Given the description of an element on the screen output the (x, y) to click on. 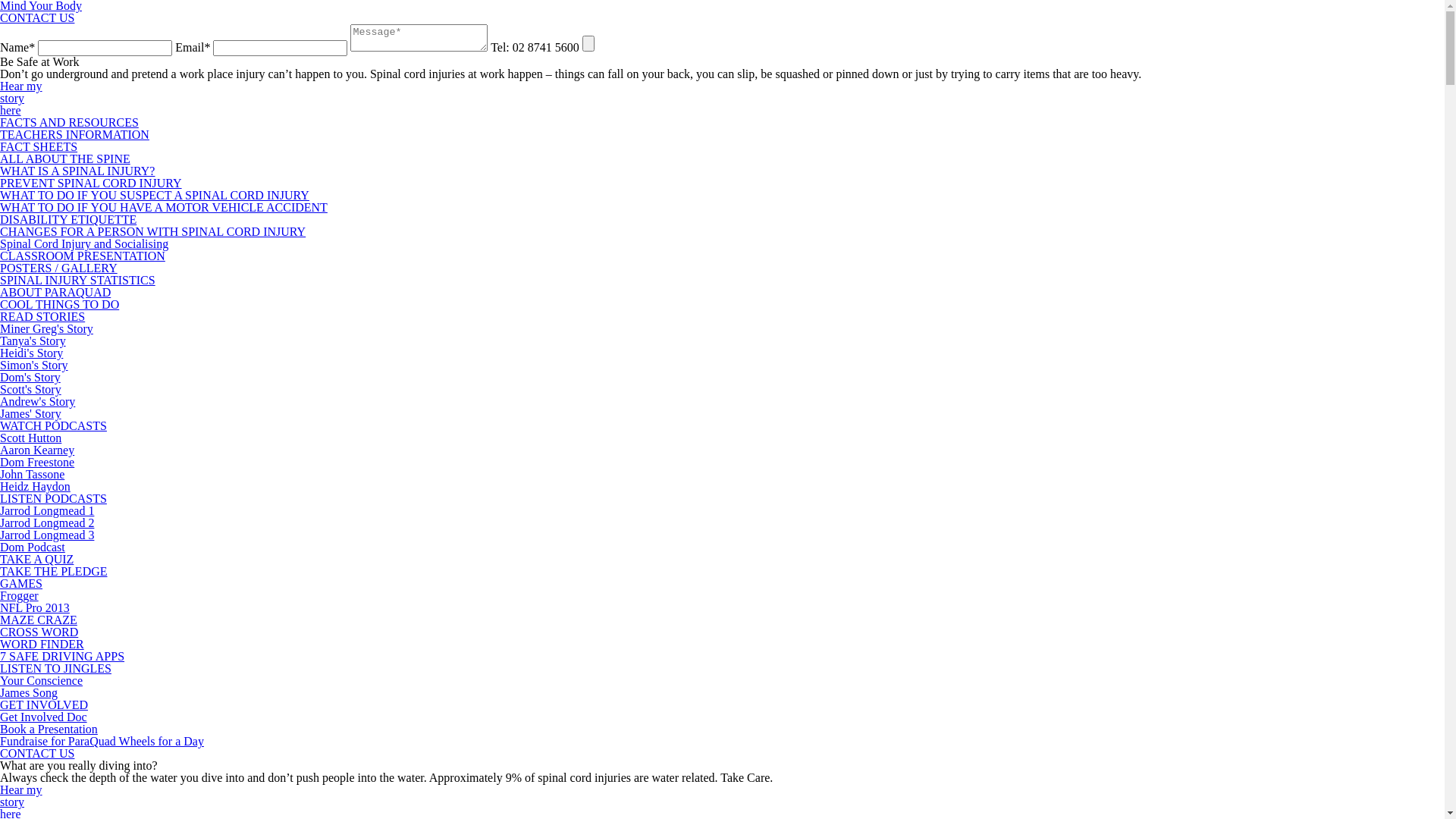
Spinal Cord Injury and Socialising Element type: text (84, 243)
CONTACT US Element type: text (37, 17)
Andrew's Story Element type: text (37, 401)
Jarrod Longmead 1 Element type: text (47, 510)
NFL Pro 2013 Element type: text (34, 607)
Get Involved Doc Element type: text (43, 716)
James Song Element type: text (28, 692)
CROSS WORD Element type: text (39, 631)
TAKE A QUIZ Element type: text (36, 558)
TEACHERS INFORMATION Element type: text (74, 134)
Hear my
story
here Element type: text (21, 97)
Fundraise for ParaQuad Wheels for a Day Element type: text (101, 740)
LISTEN PODCASTS Element type: text (53, 498)
SPINAL INJURY STATISTICS Element type: text (77, 279)
PREVENT SPINAL CORD INJURY Element type: text (91, 182)
James' Story Element type: text (30, 413)
GET INVOLVED Element type: text (43, 704)
ABOUT PARAQUAD Element type: text (55, 291)
READ STORIES Element type: text (42, 316)
WORD FINDER Element type: text (42, 643)
Heidz Haydon Element type: text (35, 486)
LISTEN TO JINGLES Element type: text (55, 668)
MAZE CRAZE Element type: text (38, 619)
Jarrod Longmead 3 Element type: text (47, 534)
DISABILITY ETIQUETTE Element type: text (68, 219)
Dom Podcast Element type: text (32, 546)
WATCH PODCASTS Element type: text (53, 425)
Dom Freestone Element type: text (37, 461)
WHAT IS A SPINAL INJURY? Element type: text (77, 170)
Tanya's Story Element type: text (32, 340)
Jarrod Longmead 2 Element type: text (47, 522)
TAKE THE PLEDGE Element type: text (53, 570)
COOL THINGS TO DO Element type: text (59, 304)
Dom's Story Element type: text (30, 376)
GAMES Element type: text (21, 583)
Miner Greg's Story Element type: text (46, 328)
Book a Presentation Element type: text (48, 728)
CONTACT US Element type: text (37, 752)
ALL ABOUT THE SPINE Element type: text (65, 158)
CHANGES FOR A PERSON WITH SPINAL CORD INJURY Element type: text (152, 231)
Heidi's Story Element type: text (31, 352)
WHAT TO DO IF YOU SUSPECT A SPINAL CORD INJURY Element type: text (154, 194)
FACTS AND RESOURCES Element type: text (69, 122)
John Tassone Element type: text (32, 473)
WHAT TO DO IF YOU HAVE A MOTOR VEHICLE ACCIDENT Element type: text (163, 206)
Frogger Element type: text (19, 595)
Scott's Story Element type: text (30, 388)
Your Conscience Element type: text (41, 680)
Aaron Kearney Element type: text (37, 449)
FACT SHEETS Element type: text (38, 146)
Scott Hutton Element type: text (30, 437)
Simon's Story Element type: text (34, 364)
7 SAFE DRIVING APPS Element type: text (62, 655)
POSTERS / GALLERY Element type: text (58, 267)
CLASSROOM PRESENTATION Element type: text (82, 255)
